Given the description of an element on the screen output the (x, y) to click on. 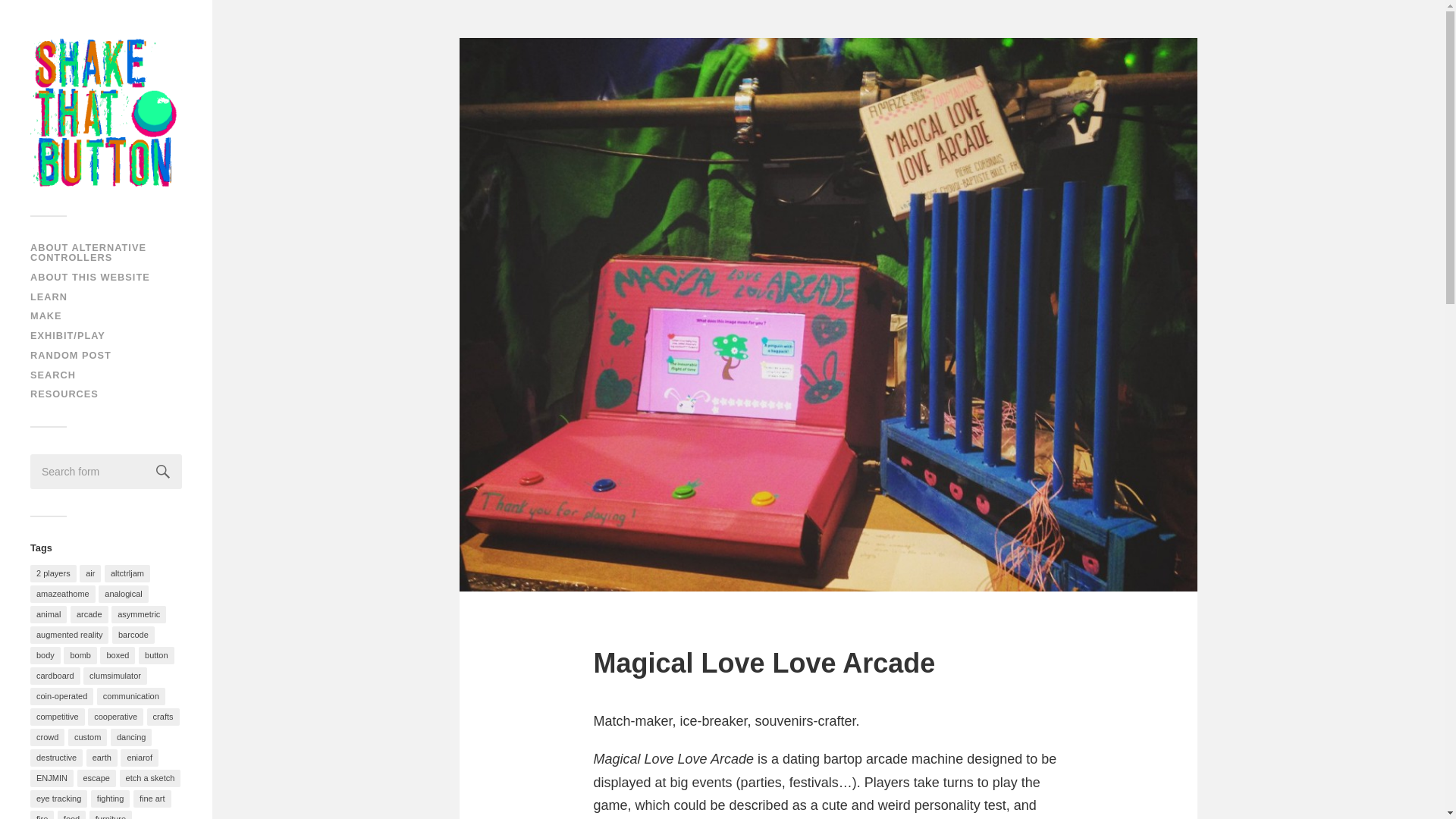
animal (48, 614)
ABOUT THIS WEBSITE (89, 276)
body (45, 655)
analogical (123, 593)
amazeathome (63, 593)
SEARCH (52, 374)
boxed (117, 655)
altctrljam (126, 573)
cooperative (114, 716)
augmented reality (68, 634)
coin-operated (61, 696)
bomb (80, 655)
ABOUT ALTERNATIVE CONTROLLERS (88, 251)
button (156, 655)
RANDOM POST (71, 355)
